Given the description of an element on the screen output the (x, y) to click on. 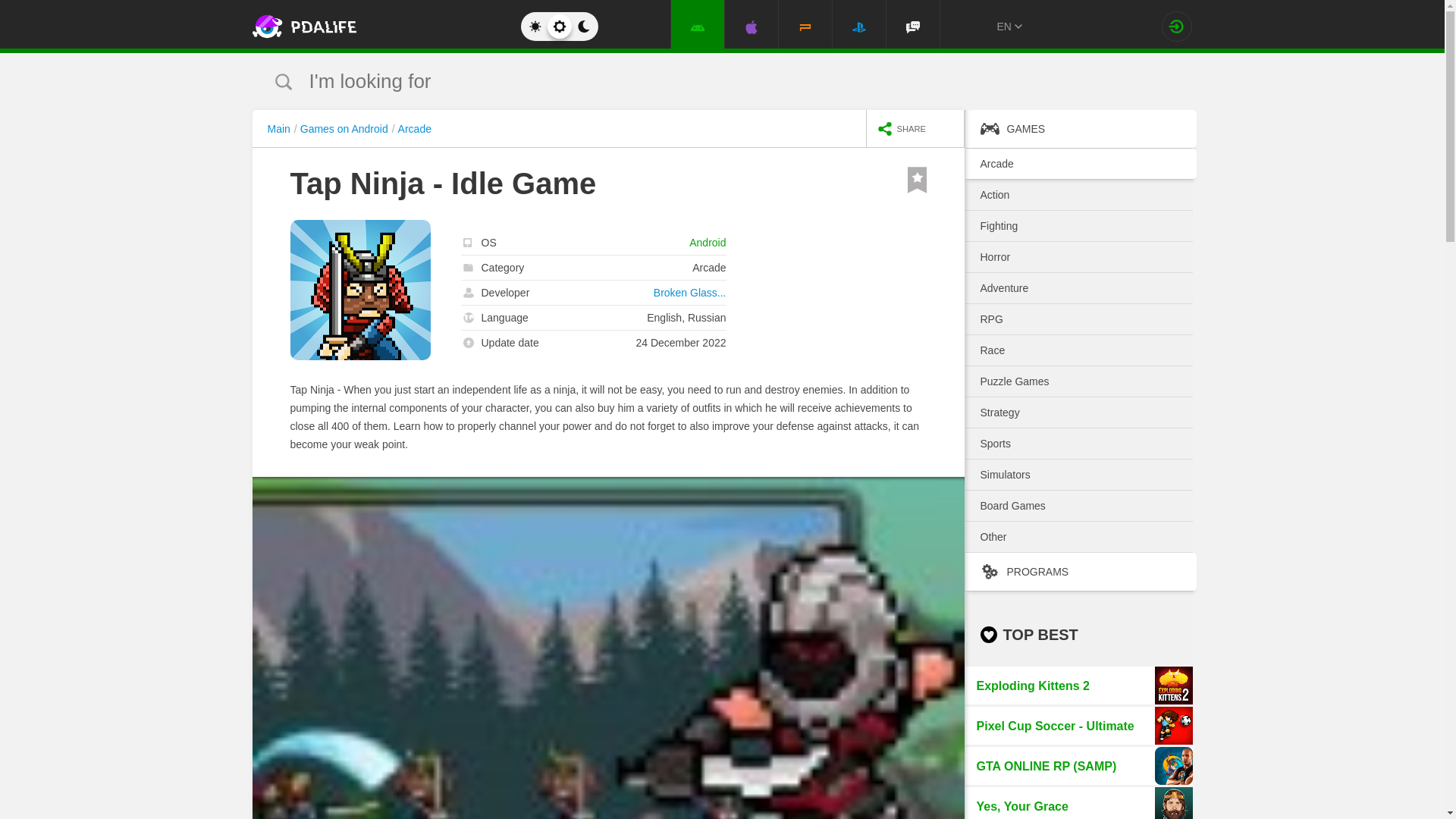
Main (281, 128)
Exploding Kittens 2 (1077, 685)
Broken Glass... (689, 292)
PDALIFE.com (368, 26)
Arcade (413, 128)
Pixel Cup Soccer - Ultimate (1077, 725)
Games on Android (346, 128)
Yes, Your Grace (1077, 803)
SHARE (914, 127)
